Given the description of an element on the screen output the (x, y) to click on. 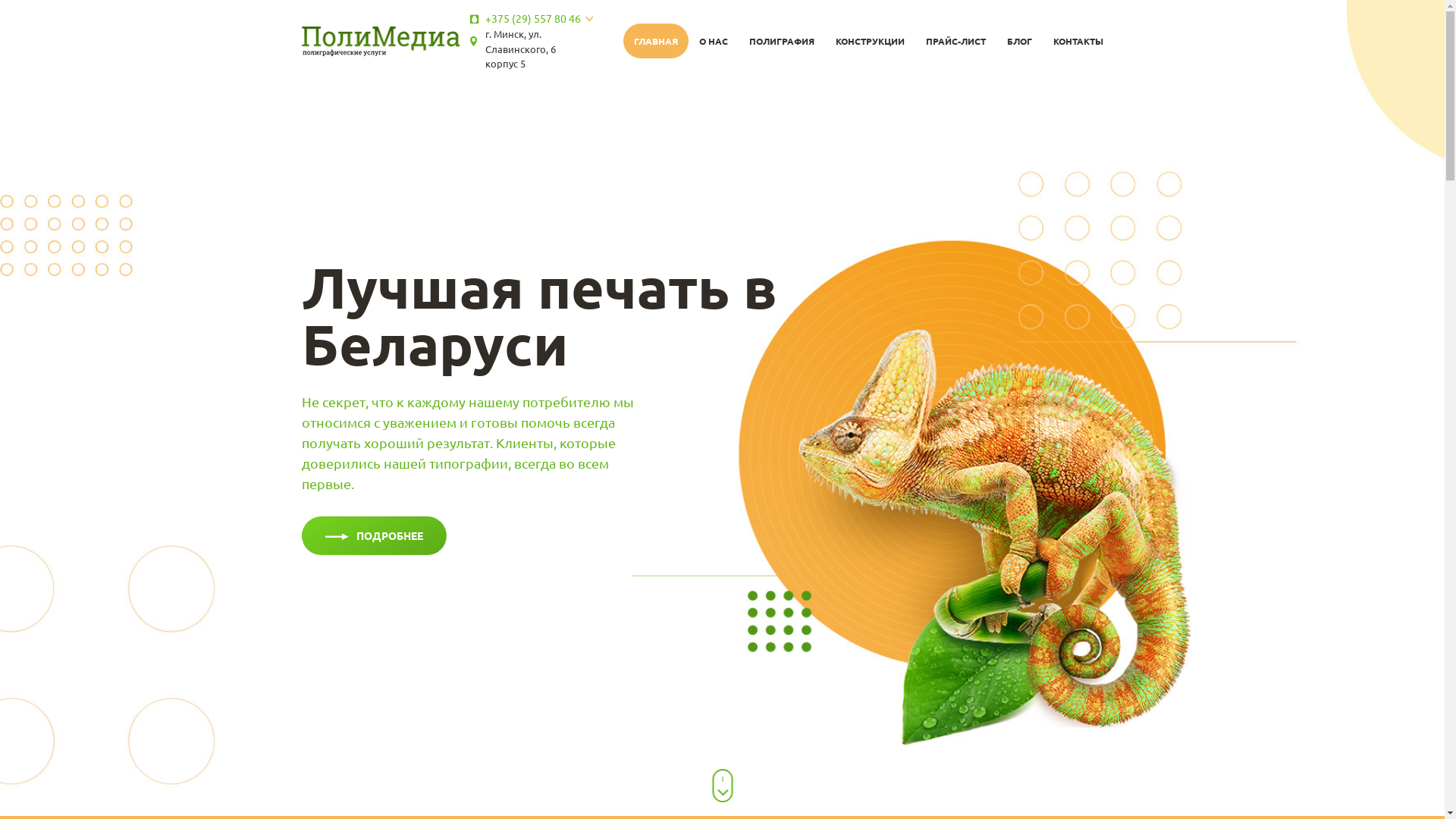
+375 (29) 557 80 46 Element type: text (532, 18)
